Given the description of an element on the screen output the (x, y) to click on. 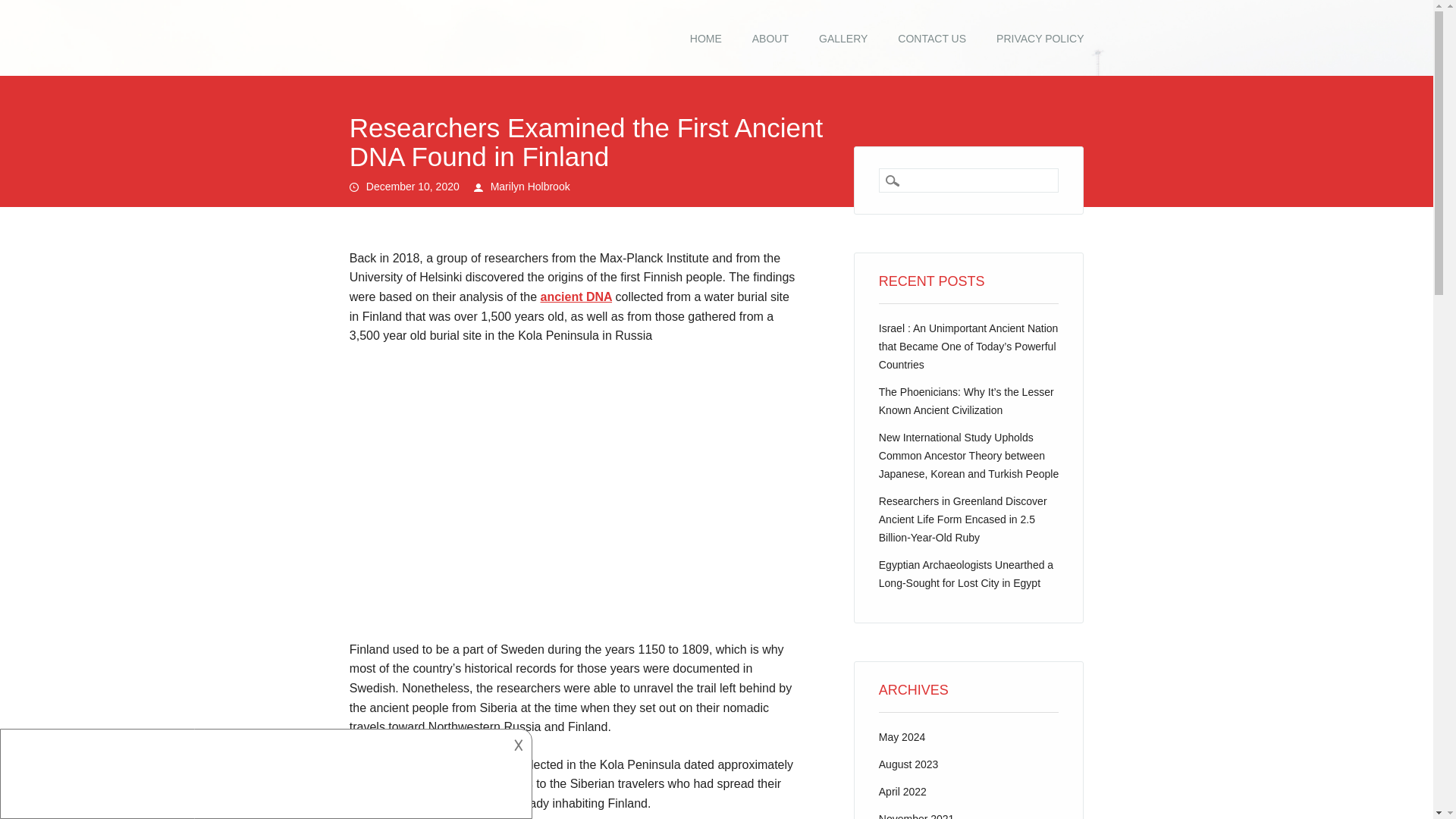
May 2024 (901, 736)
ancient DNA (575, 296)
Search (22, 8)
CONTACT US (931, 38)
HOME (705, 38)
Marilyn Holbrook (530, 186)
GALLERY (842, 38)
description (264, 771)
November 2021 (917, 816)
ABOUT (769, 38)
PRIVACY POLICY (1040, 38)
11:18 pm (413, 186)
